Given the description of an element on the screen output the (x, y) to click on. 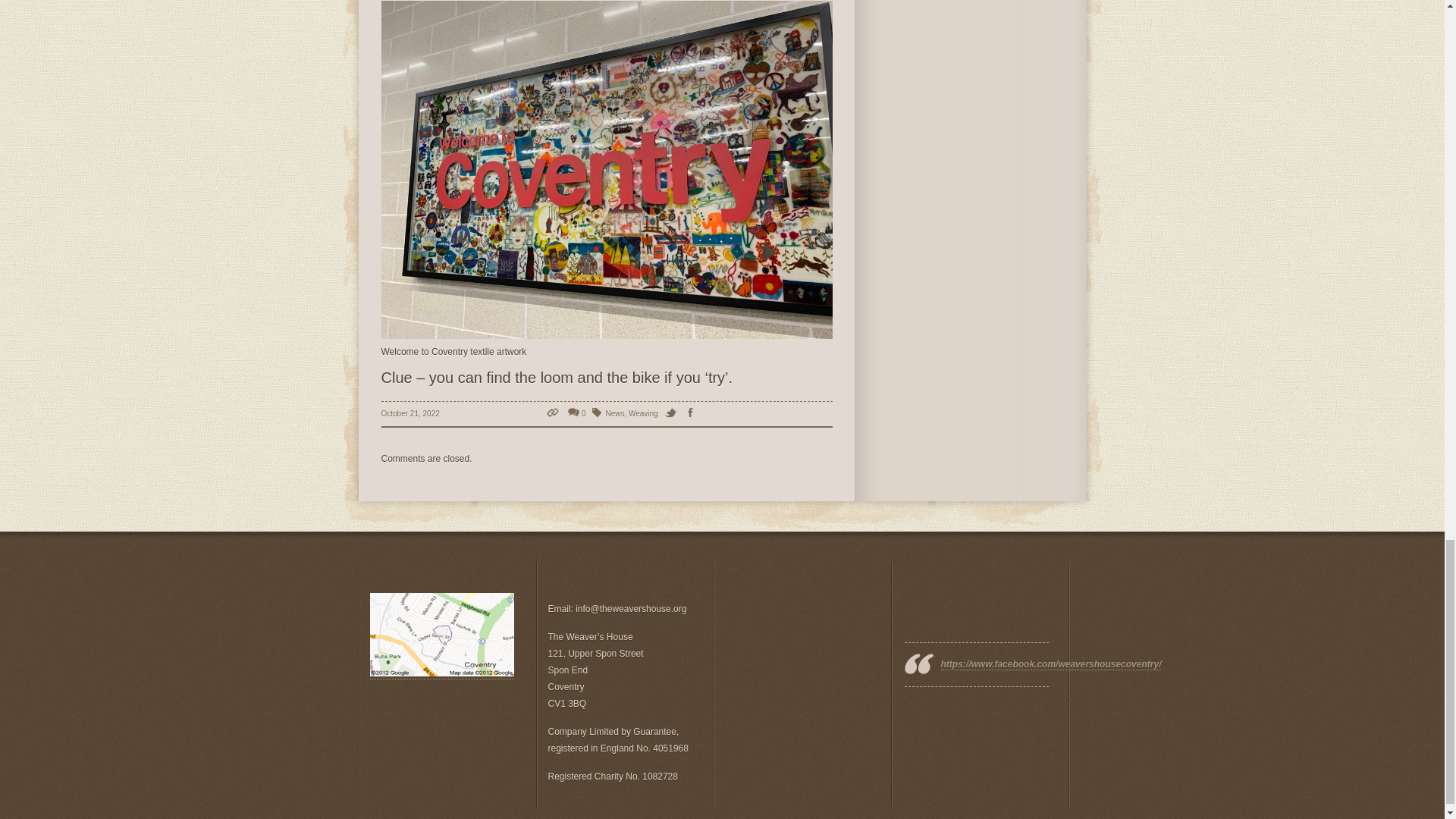
Number of comments (576, 413)
Tweet this (672, 413)
Like this on Facebook (693, 413)
The permalink (554, 413)
